Given the description of an element on the screen output the (x, y) to click on. 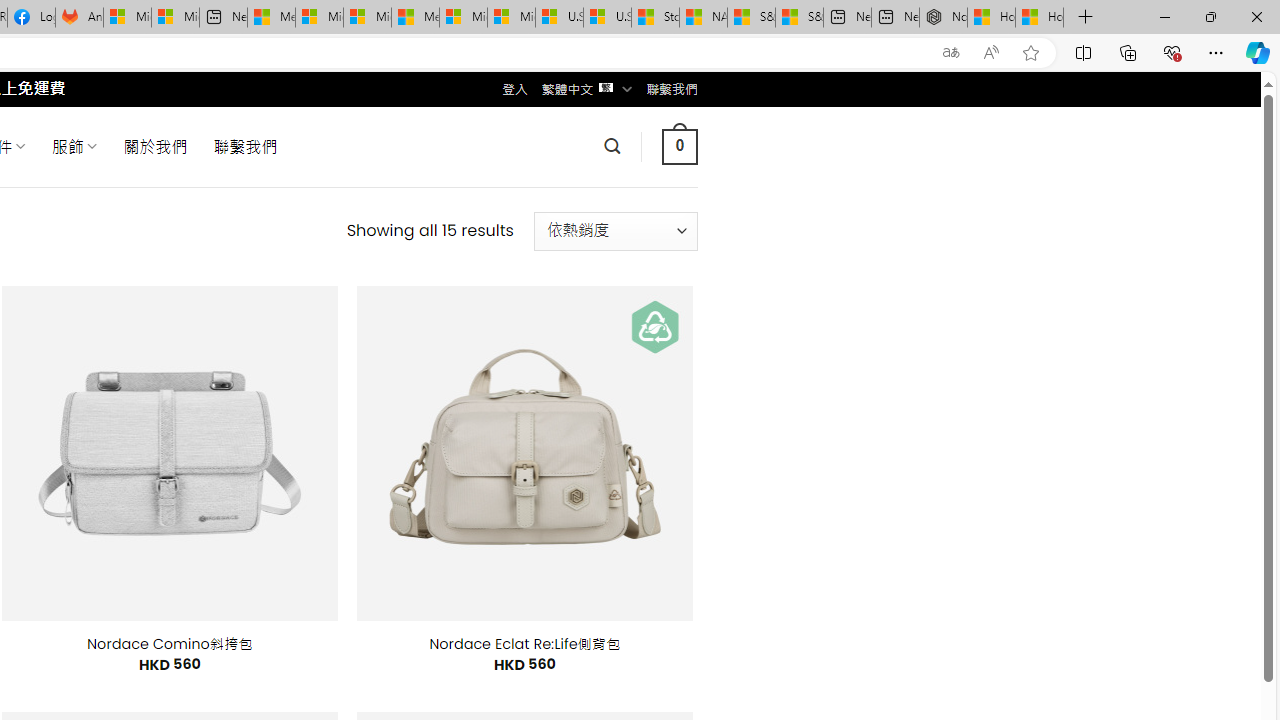
Microsoft account | Privacy (319, 17)
Show translate options (950, 53)
 0  (679, 146)
